Given the description of an element on the screen output the (x, y) to click on. 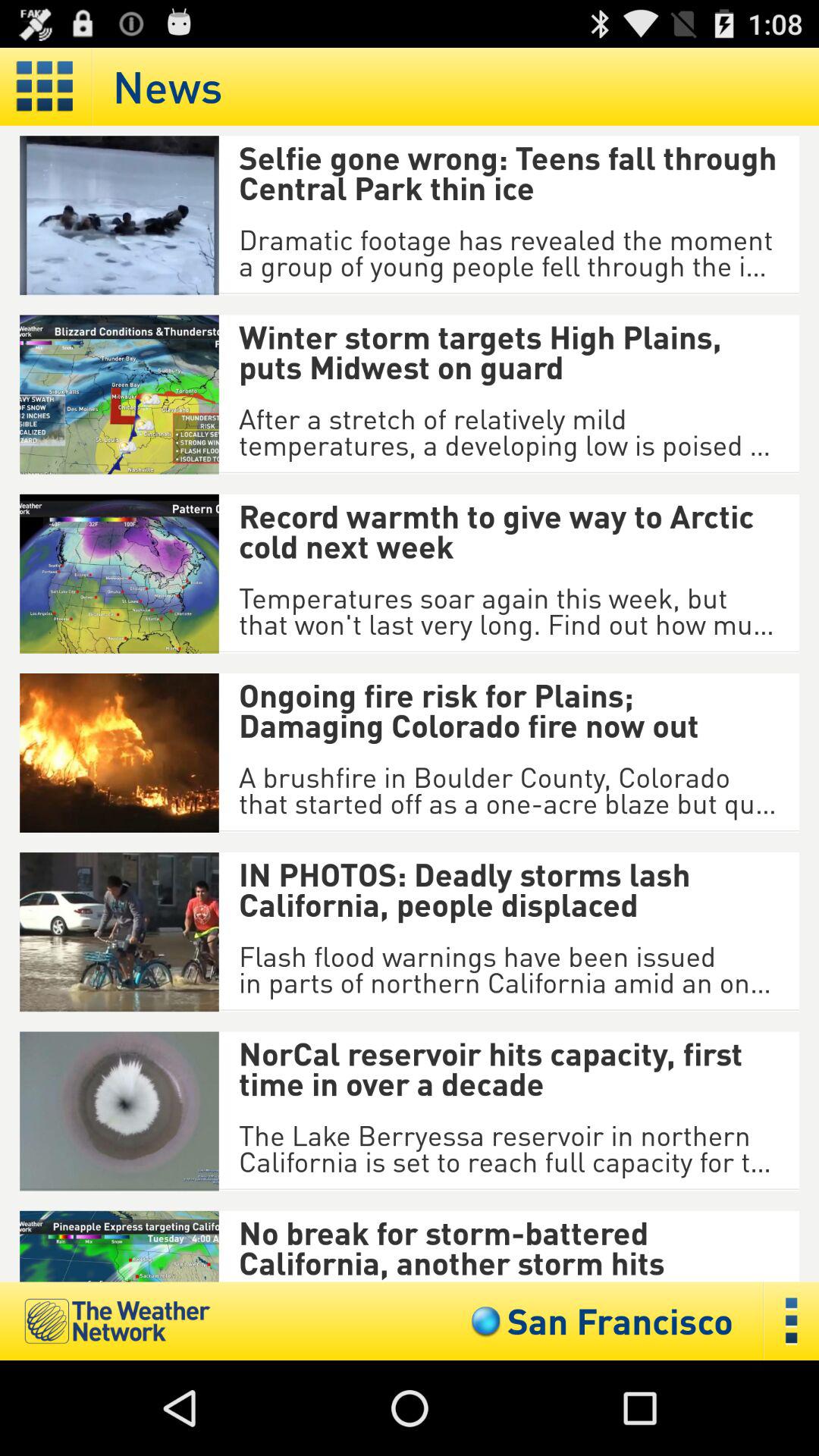
open menu (791, 1320)
